Given the description of an element on the screen output the (x, y) to click on. 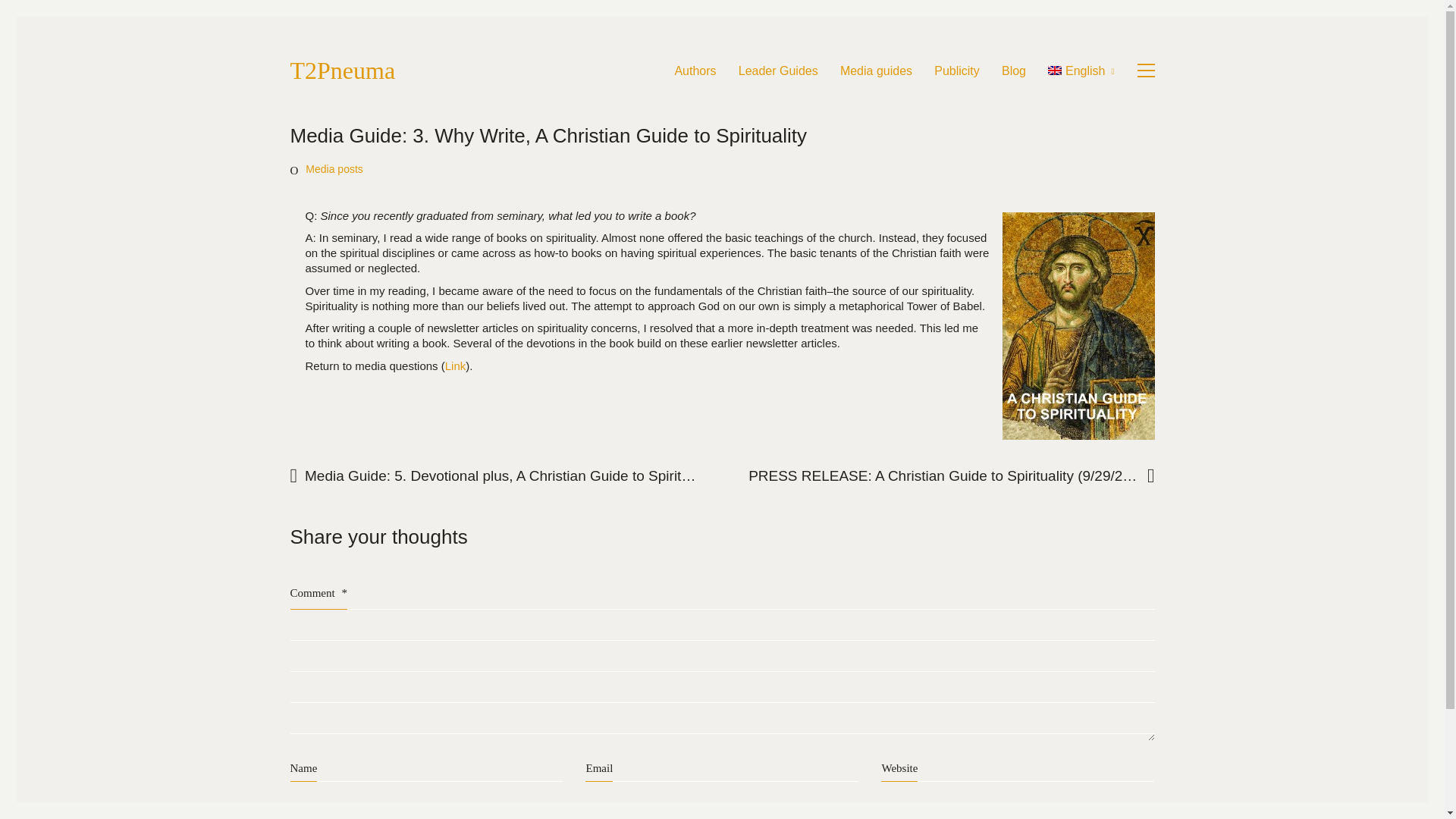
Comment (1109, 815)
T2Pneuma (341, 70)
Comment (1109, 815)
English (1080, 70)
Media Guide: A Christian Guide to Spirituality (455, 365)
Authors (695, 70)
Publicity (956, 70)
Media posts (333, 169)
English (1080, 70)
Media guides (876, 70)
Leader Guides (778, 70)
Blog (1013, 70)
Link (455, 365)
